Given the description of an element on the screen output the (x, y) to click on. 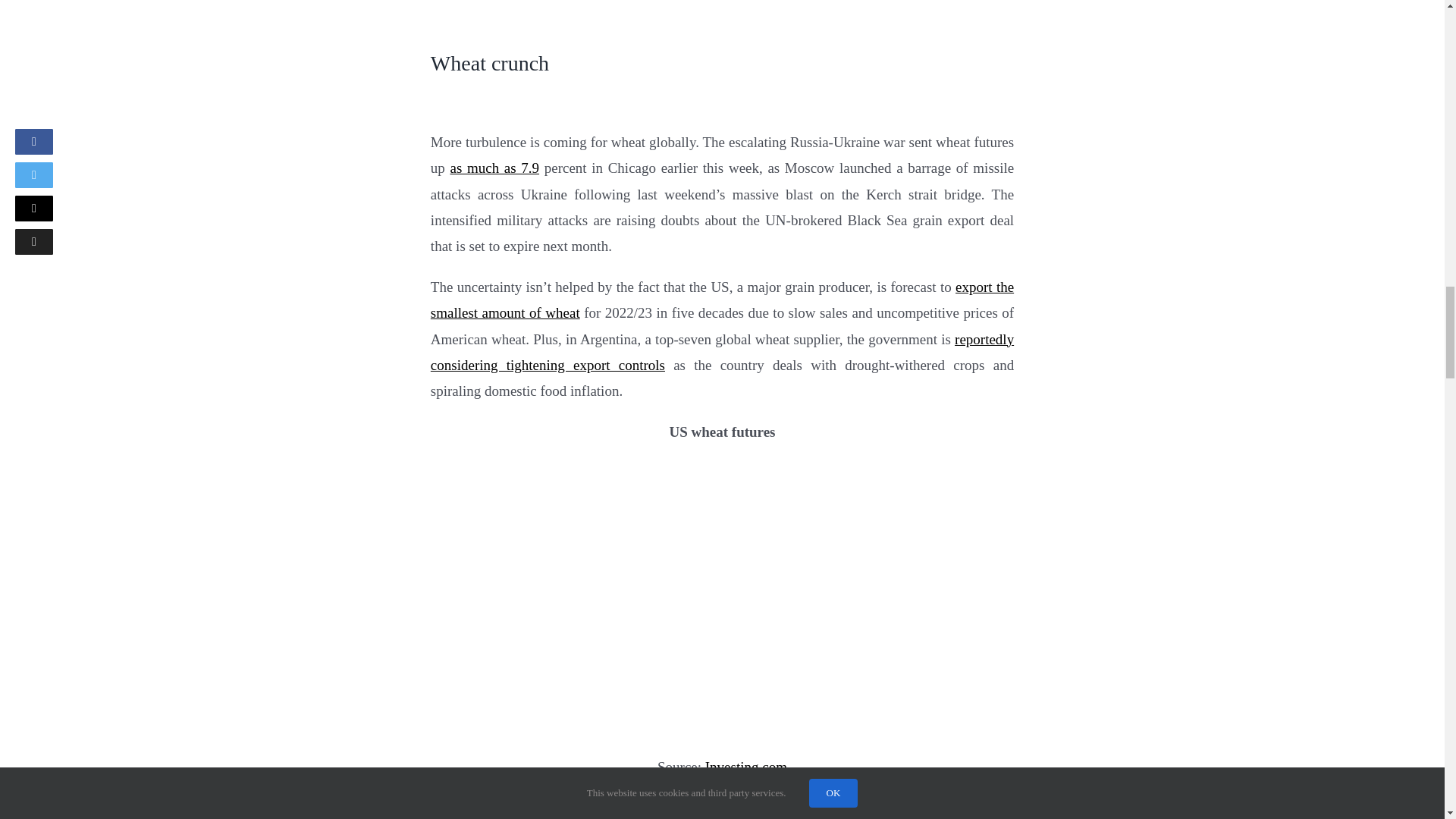
as much as 7.9 (494, 167)
